Given the description of an element on the screen output the (x, y) to click on. 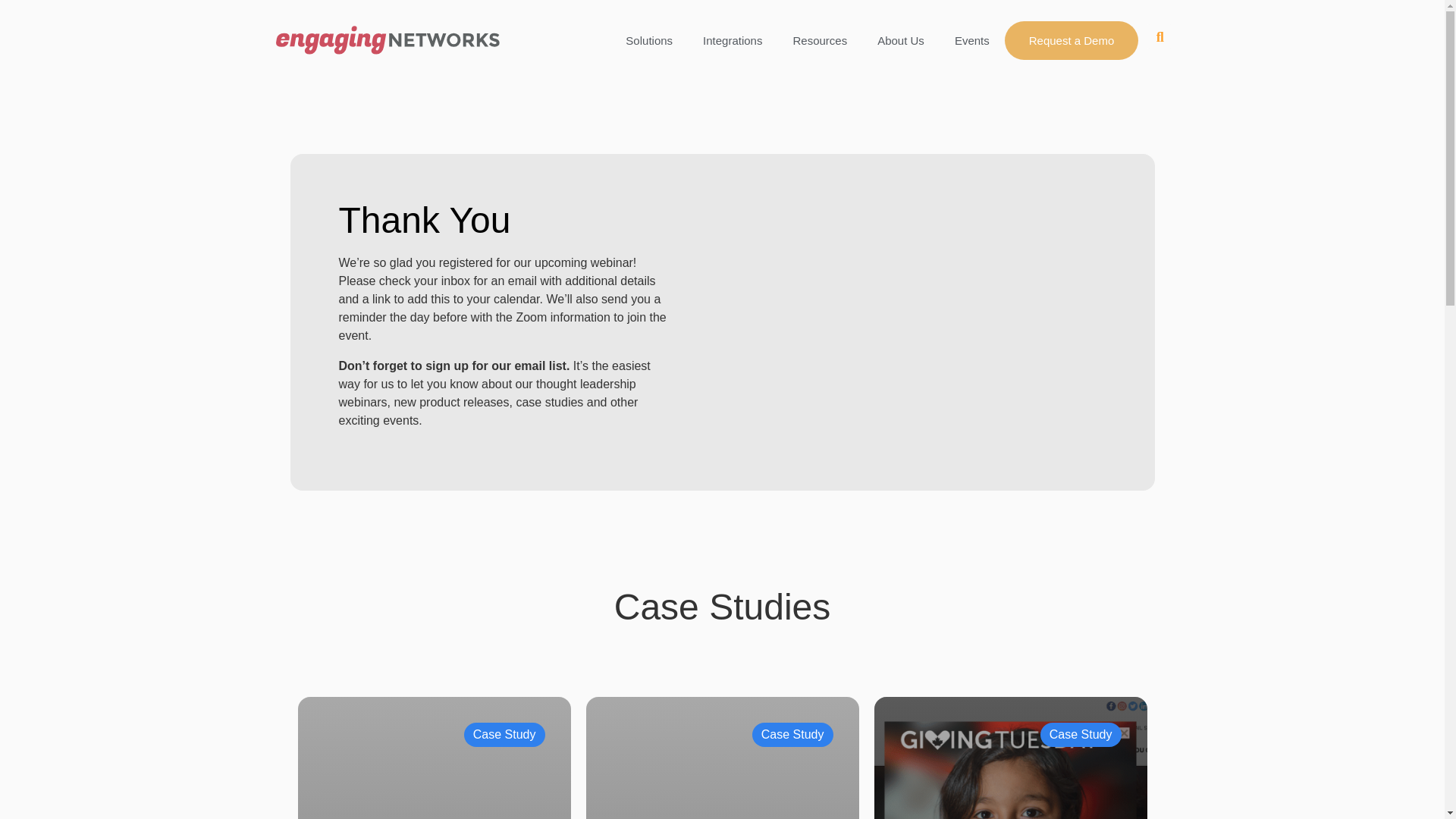
About Us (900, 40)
Integrations (732, 40)
Resources (819, 40)
Request a Demo (1071, 40)
Events (971, 40)
Solutions (648, 40)
